Given the description of an element on the screen output the (x, y) to click on. 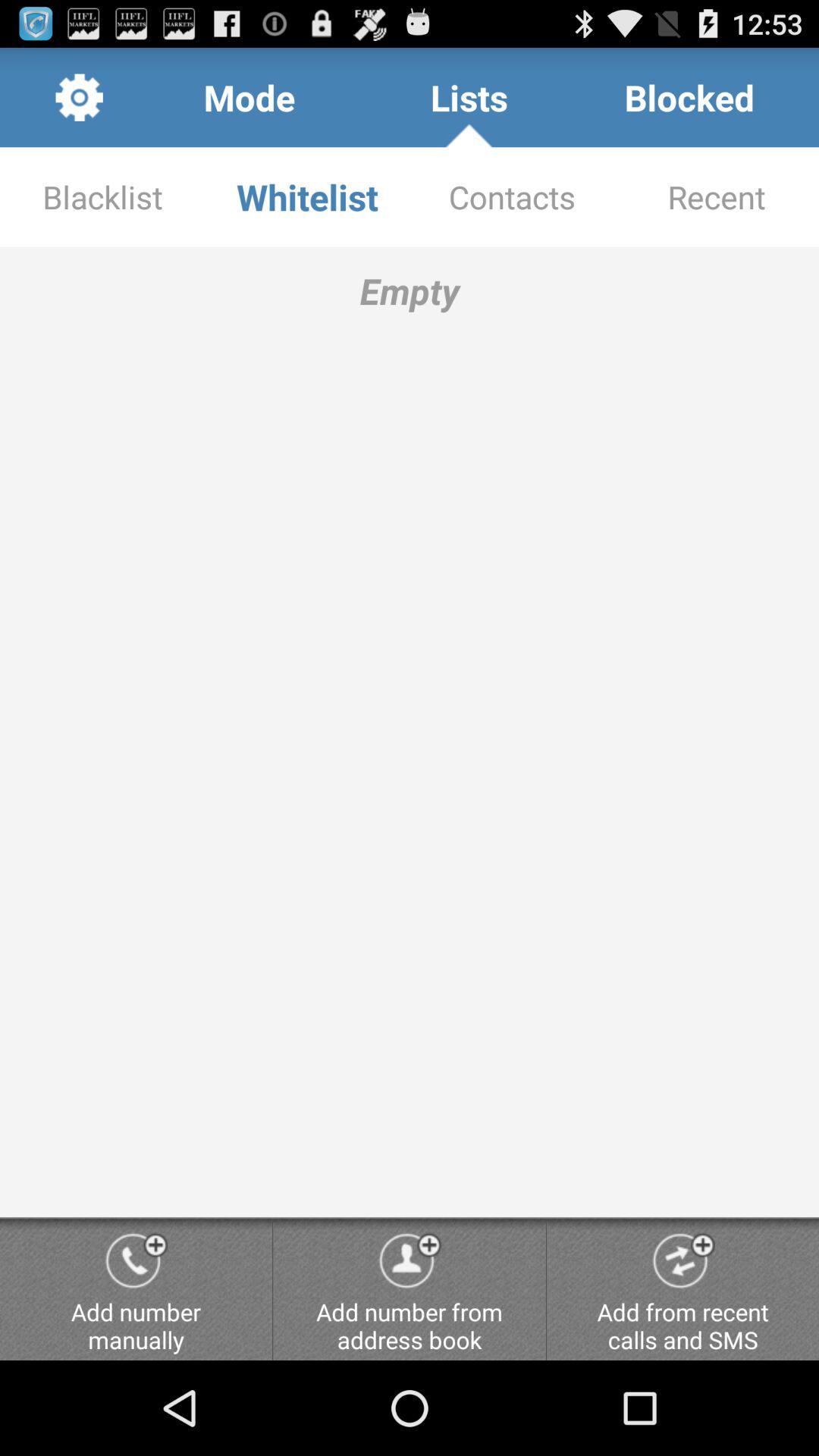
launch the item next to blocked item (469, 97)
